Given the description of an element on the screen output the (x, y) to click on. 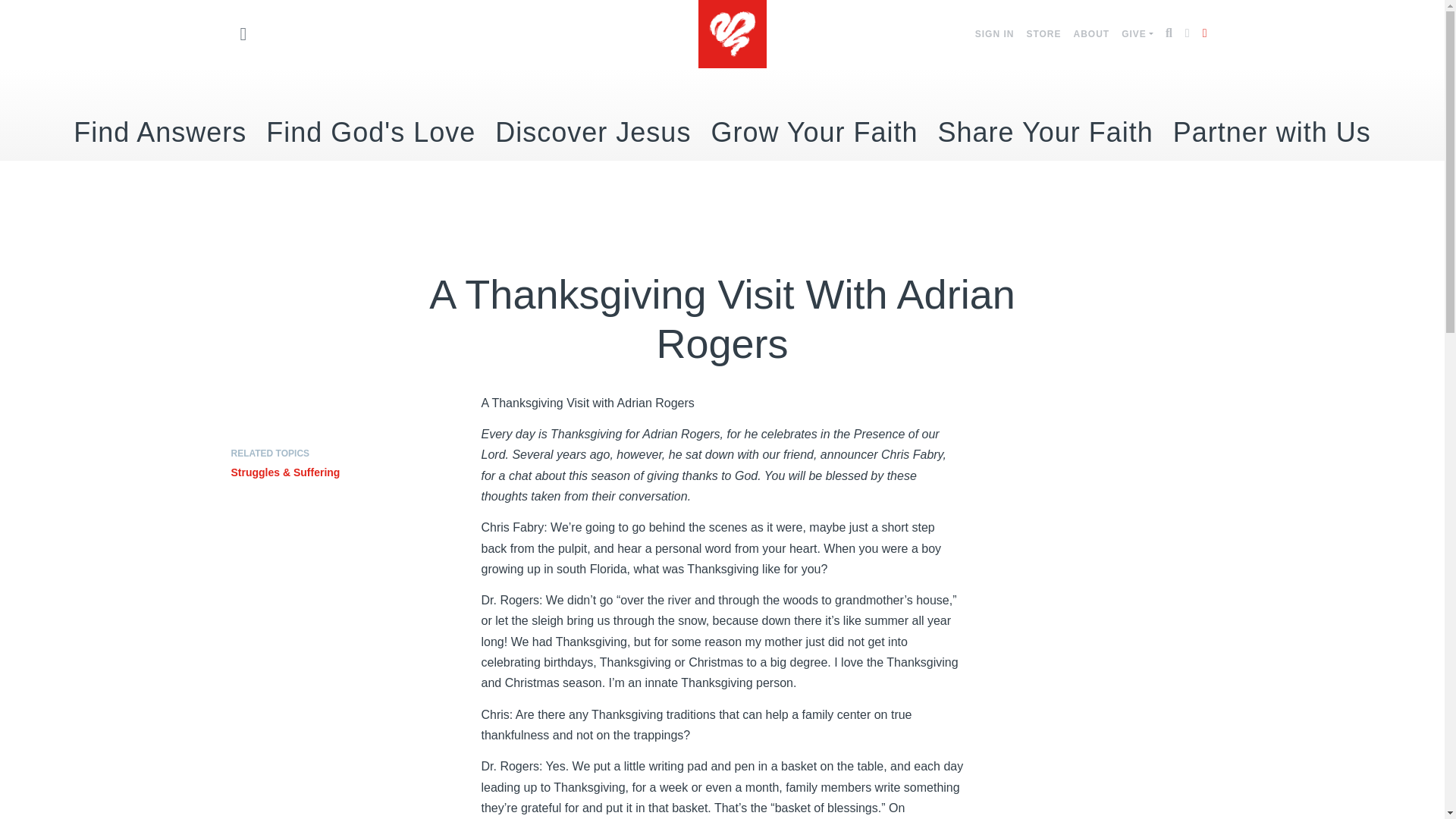
ABOUT (1091, 33)
GIVE (1136, 33)
STORE (1043, 33)
SIGN IN (994, 33)
